Given the description of an element on the screen output the (x, y) to click on. 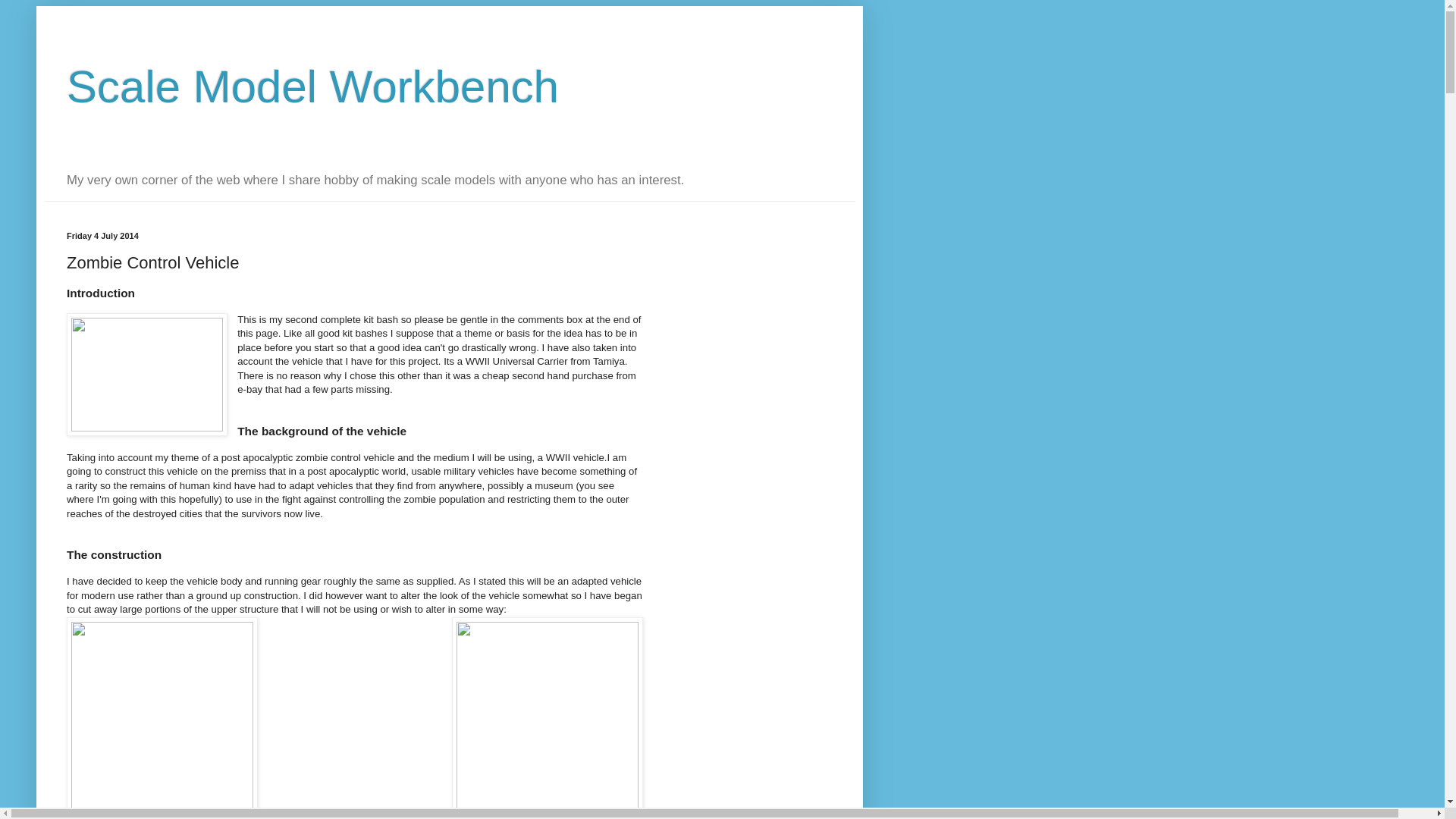
Scale Model Workbench (312, 86)
